Given the description of an element on the screen output the (x, y) to click on. 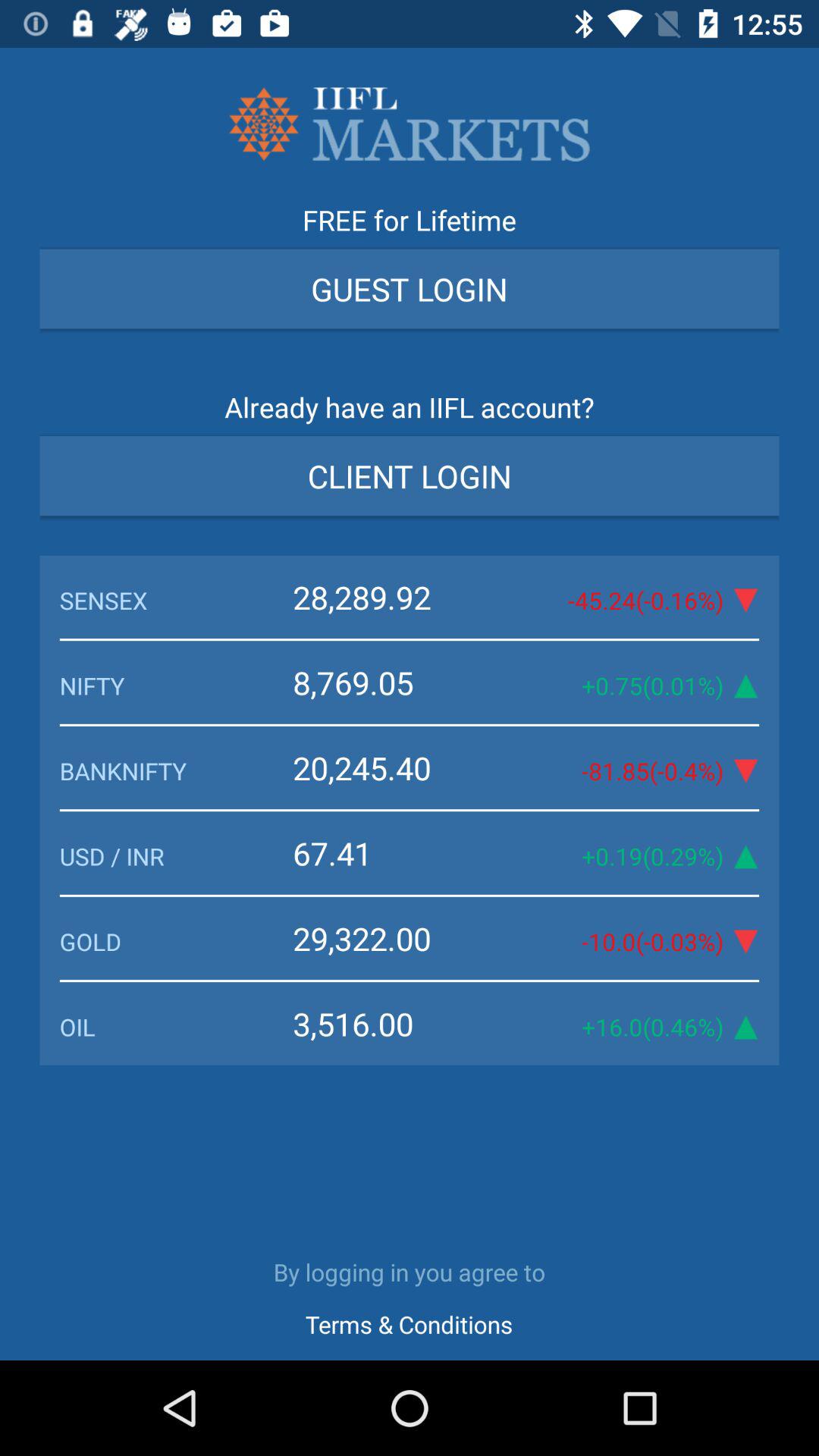
tap the icon to the left of the 20,245.40 item (175, 770)
